Given the description of an element on the screen output the (x, y) to click on. 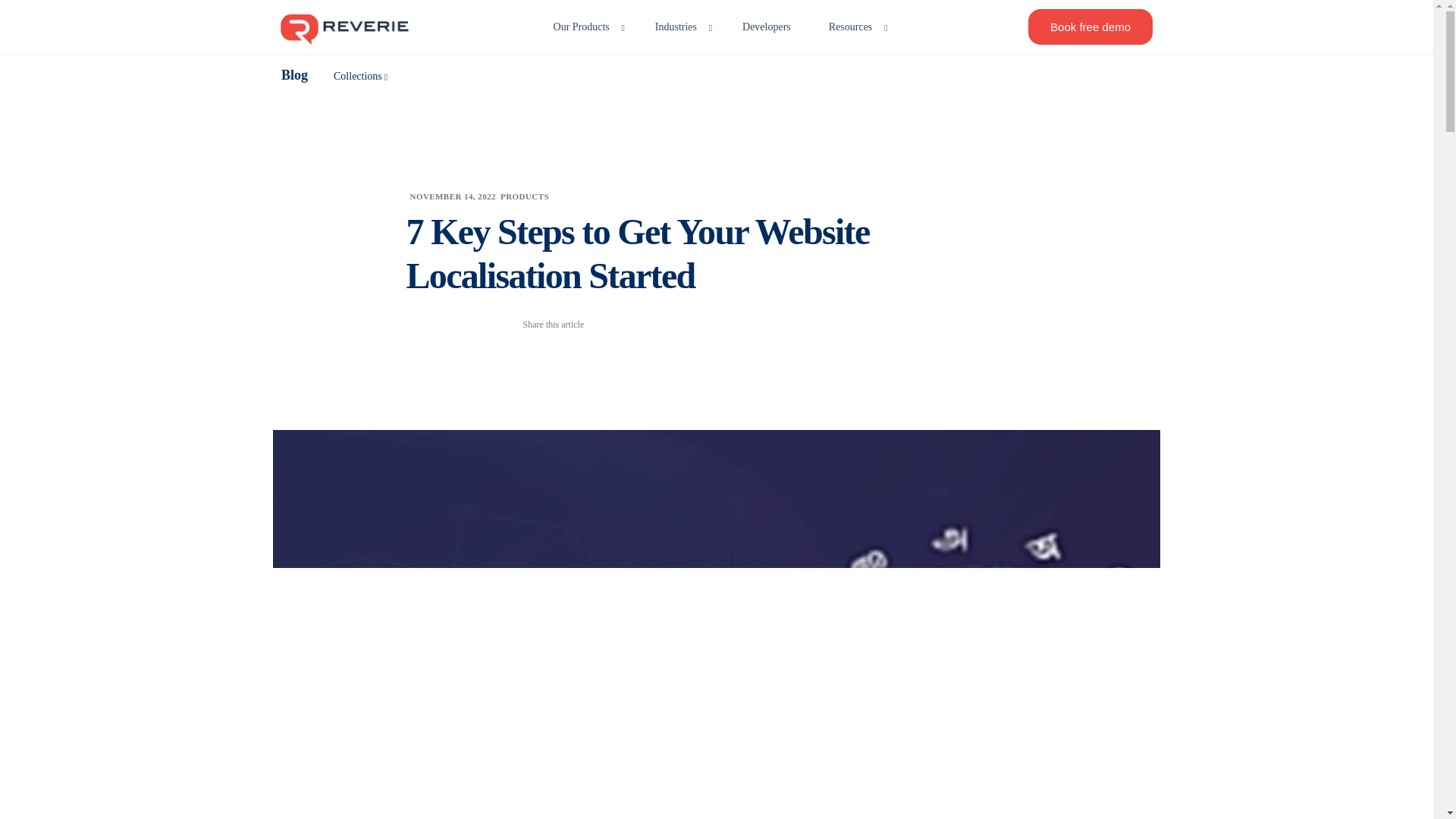
Industries (679, 27)
Developers (766, 27)
Resources (853, 27)
Our Products (584, 27)
